Given the description of an element on the screen output the (x, y) to click on. 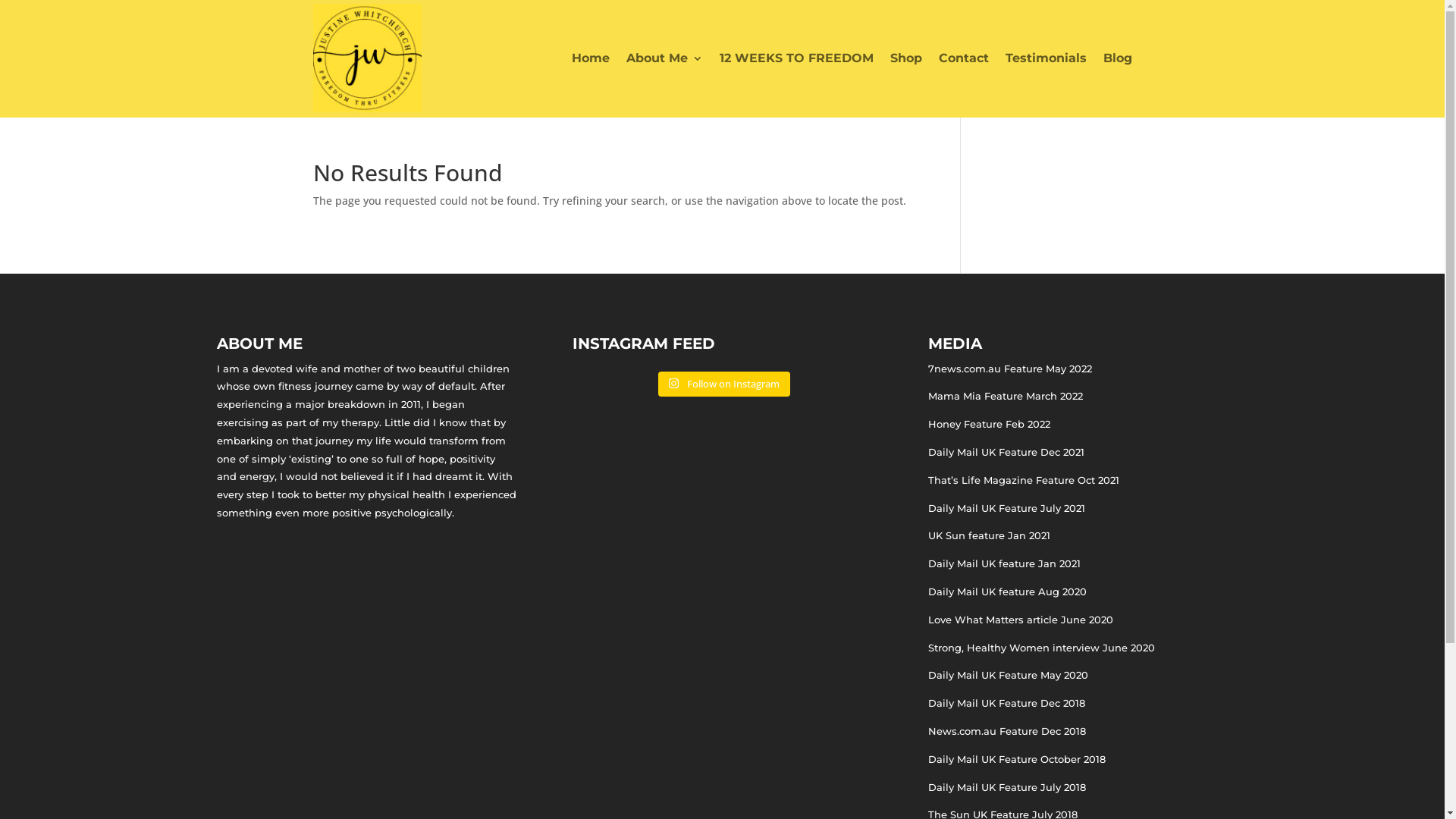
Contact Element type: text (963, 57)
Home Element type: text (590, 57)
Daily Mail UK Feature Dec 2018 Element type: text (1006, 702)
Daily Mail UK Feature Dec 2021 Element type: text (1006, 451)
Strong, Healthy Women interview June 2020 Element type: text (1041, 647)
7news.com.au Feature May 2022 Element type: text (1010, 368)
Testimonials Element type: text (1045, 57)
Blog Element type: text (1116, 57)
Daily Mail UK Feature May 2020 Element type: text (1008, 674)
Honey Feature Feb 2022 Element type: text (989, 423)
About Me Element type: text (664, 57)
Mama Mia Feature March 2022 Element type: text (1005, 395)
Shop Element type: text (906, 57)
Daily Mail UK Feature July 2018 Element type: text (1006, 787)
Daily Mail UK feature Aug 2020 Element type: text (1007, 591)
Daily Mail UK Feature October 2018 Element type: text (1016, 759)
12 WEEKS TO FREEDOM Element type: text (795, 57)
Daily Mail UK Feature July 2021 Element type: text (1006, 508)
Follow on Instagram Element type: text (723, 384)
News.com.au Feature Dec 2018 Element type: text (1006, 730)
Love What Matters article June 2020 Element type: text (1020, 619)
Daily Mail UK feature Jan 2021 Element type: text (1004, 563)
UK Sun feature Jan 2021 Element type: text (989, 535)
